Given the description of an element on the screen output the (x, y) to click on. 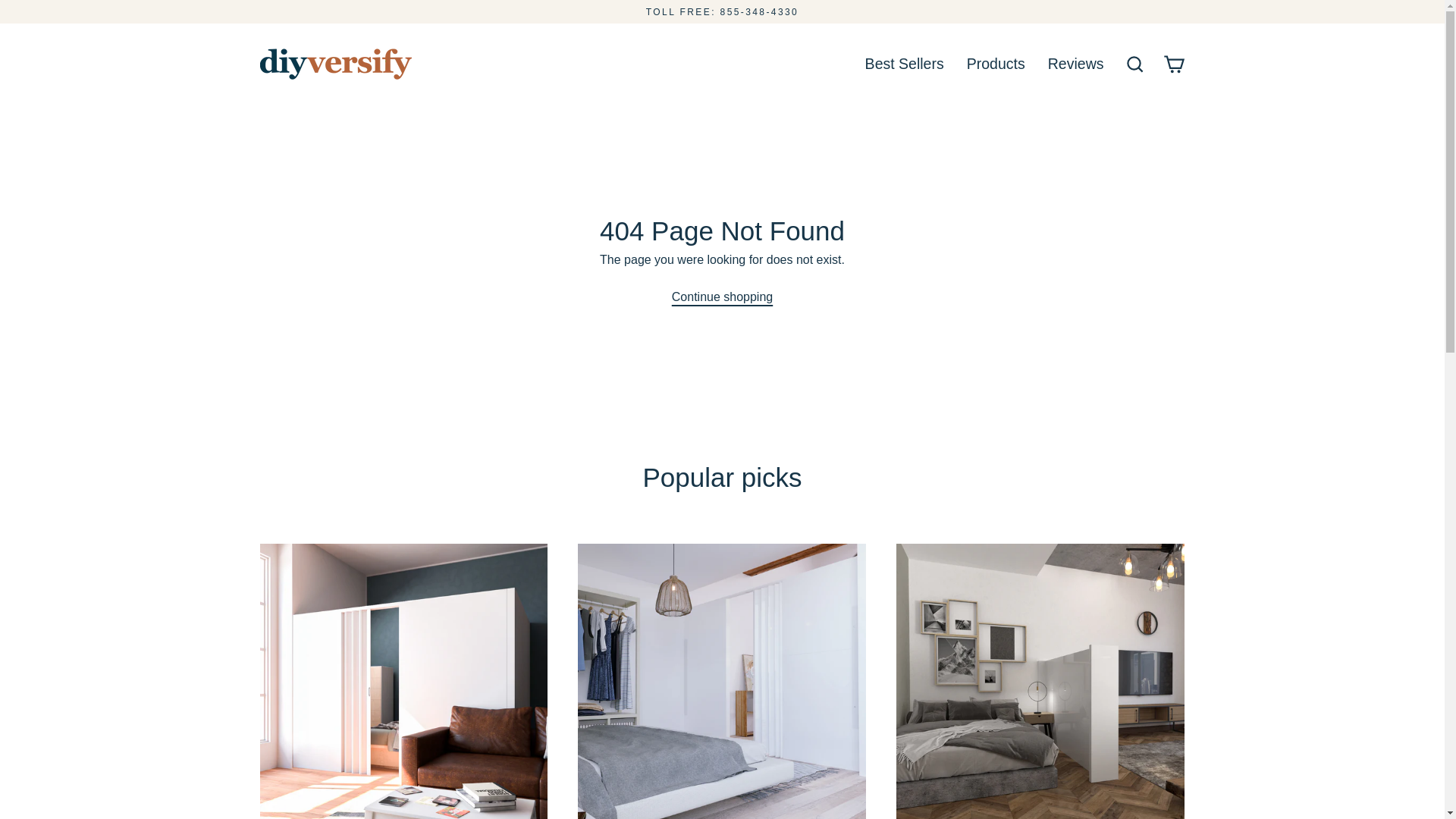
Reviews (1075, 64)
Search (1134, 63)
Best Sellers (904, 64)
Cart (1173, 63)
Continue shopping (722, 296)
Products (995, 64)
